Given the description of an element on the screen output the (x, y) to click on. 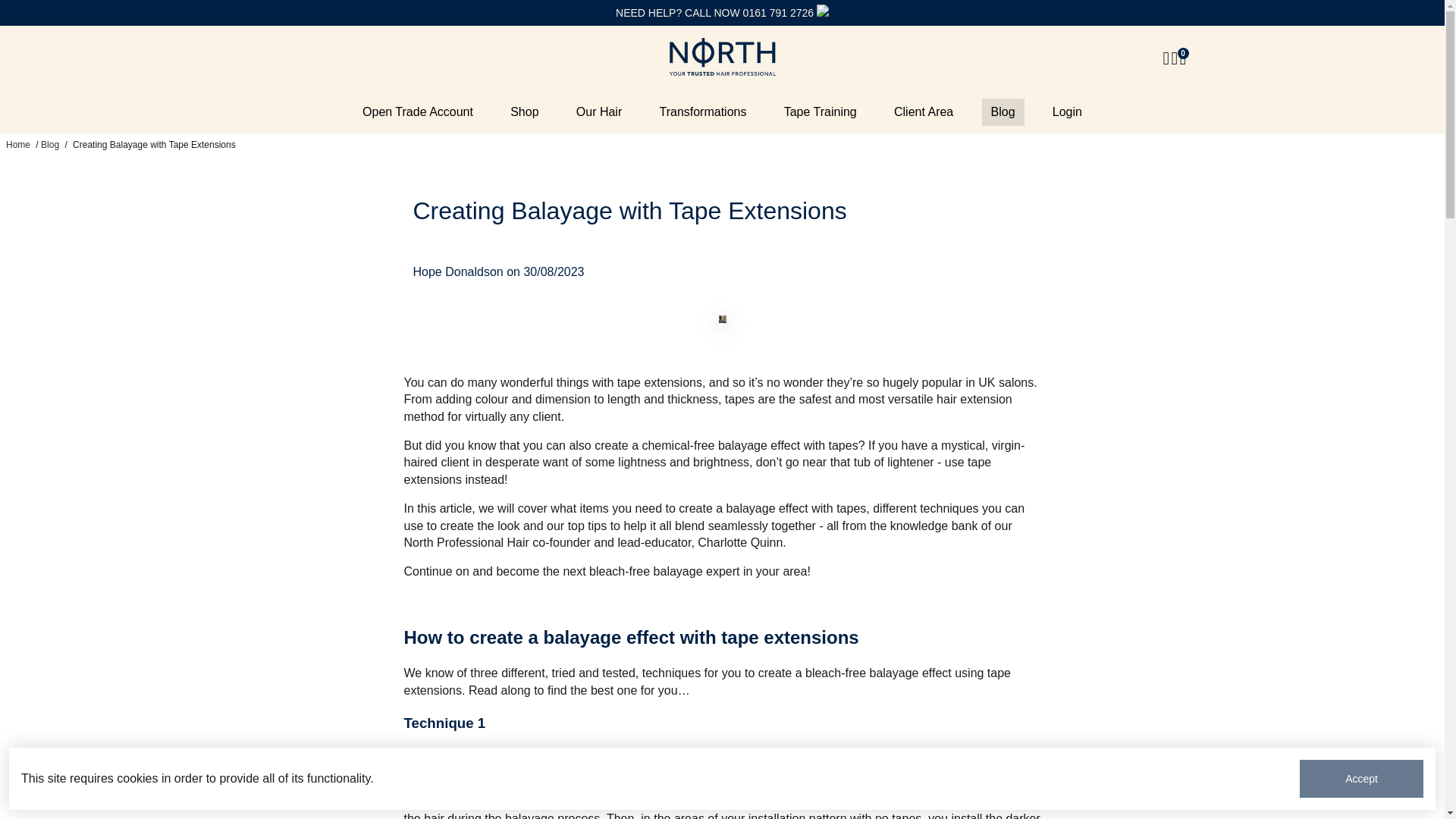
Our Hair (598, 111)
Open Trade Account (417, 111)
Client Area (923, 111)
0161 791 2726 (777, 12)
Home (17, 144)
Transformations (702, 111)
Tape Training (820, 111)
Blog (1002, 111)
Login (1066, 111)
Shop (524, 111)
